Given the description of an element on the screen output the (x, y) to click on. 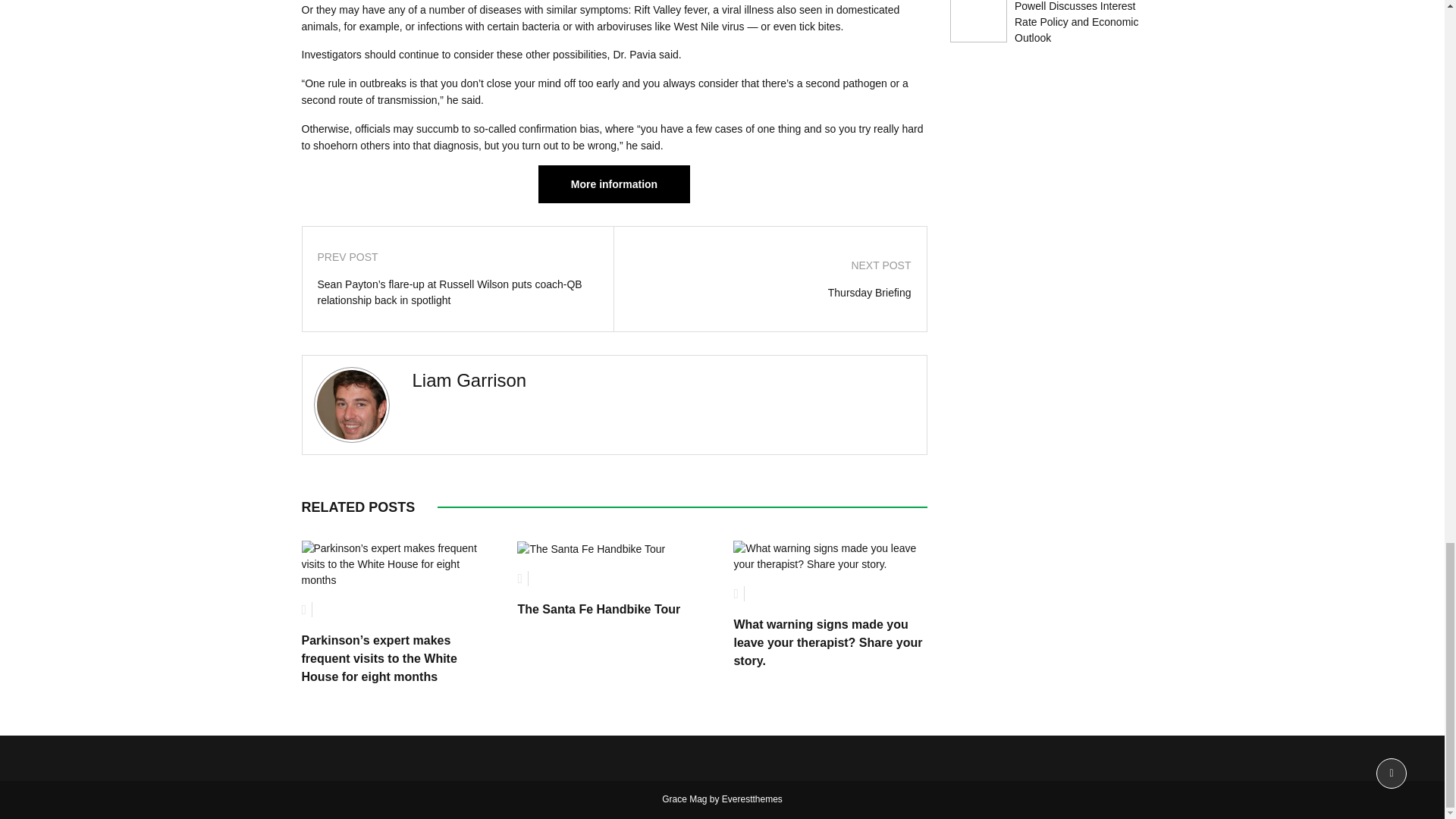
The Santa Fe Handbike Tour (597, 608)
More information (614, 184)
Thursday Briefing (769, 293)
Everestthemes (752, 798)
